Given the description of an element on the screen output the (x, y) to click on. 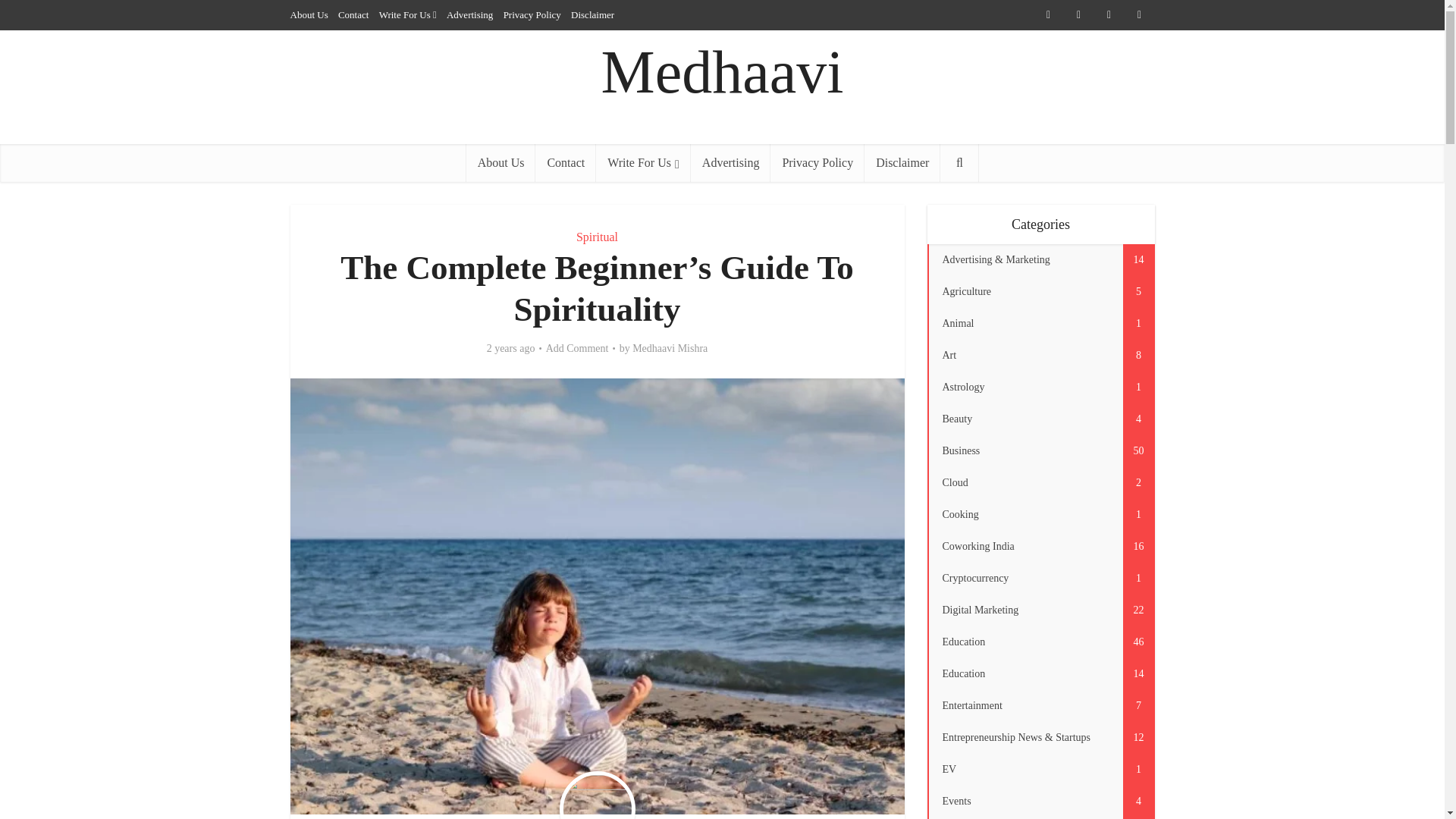
Contact (565, 162)
About Us (500, 162)
Advertising (730, 162)
Privacy Policy (817, 162)
Disclaimer (902, 162)
Medhaavi (722, 71)
About Us (308, 14)
Write For Us (404, 14)
Advertising (469, 14)
Disclaimer (592, 14)
